Given the description of an element on the screen output the (x, y) to click on. 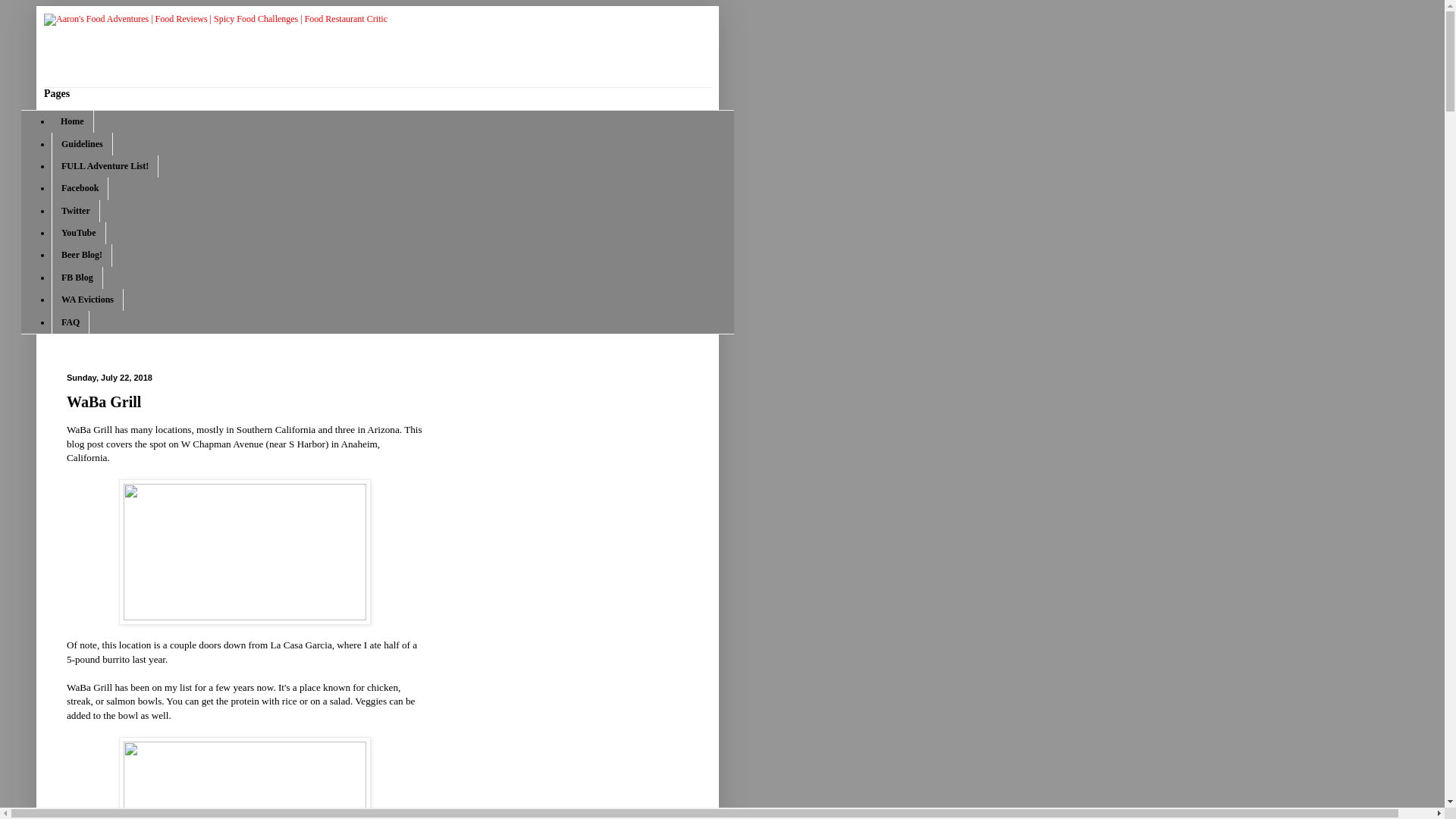
Beer Blog! (81, 255)
FULL Adventure List! (104, 166)
FAQ (69, 321)
Guidelines (81, 143)
Twitter (75, 210)
WA Evictions (86, 300)
Facebook (78, 188)
YouTube (78, 232)
Home (72, 121)
FB Blog (76, 277)
